Given the description of an element on the screen output the (x, y) to click on. 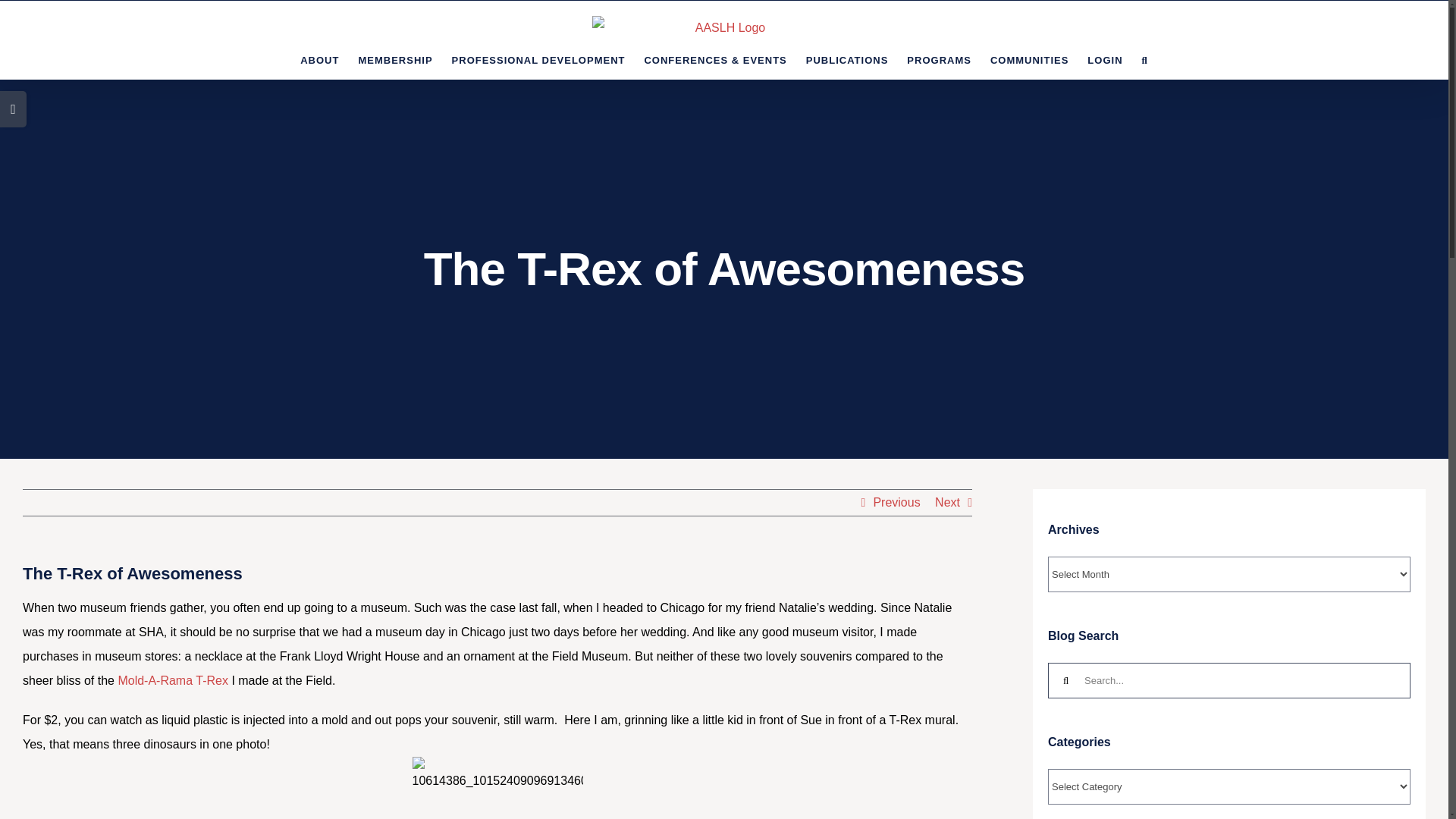
PROFESSIONAL DEVELOPMENT (538, 59)
MEMBERSHIP (395, 59)
PUBLICATIONS (847, 59)
ABOUT (319, 59)
Search (1144, 59)
